Given the description of an element on the screen output the (x, y) to click on. 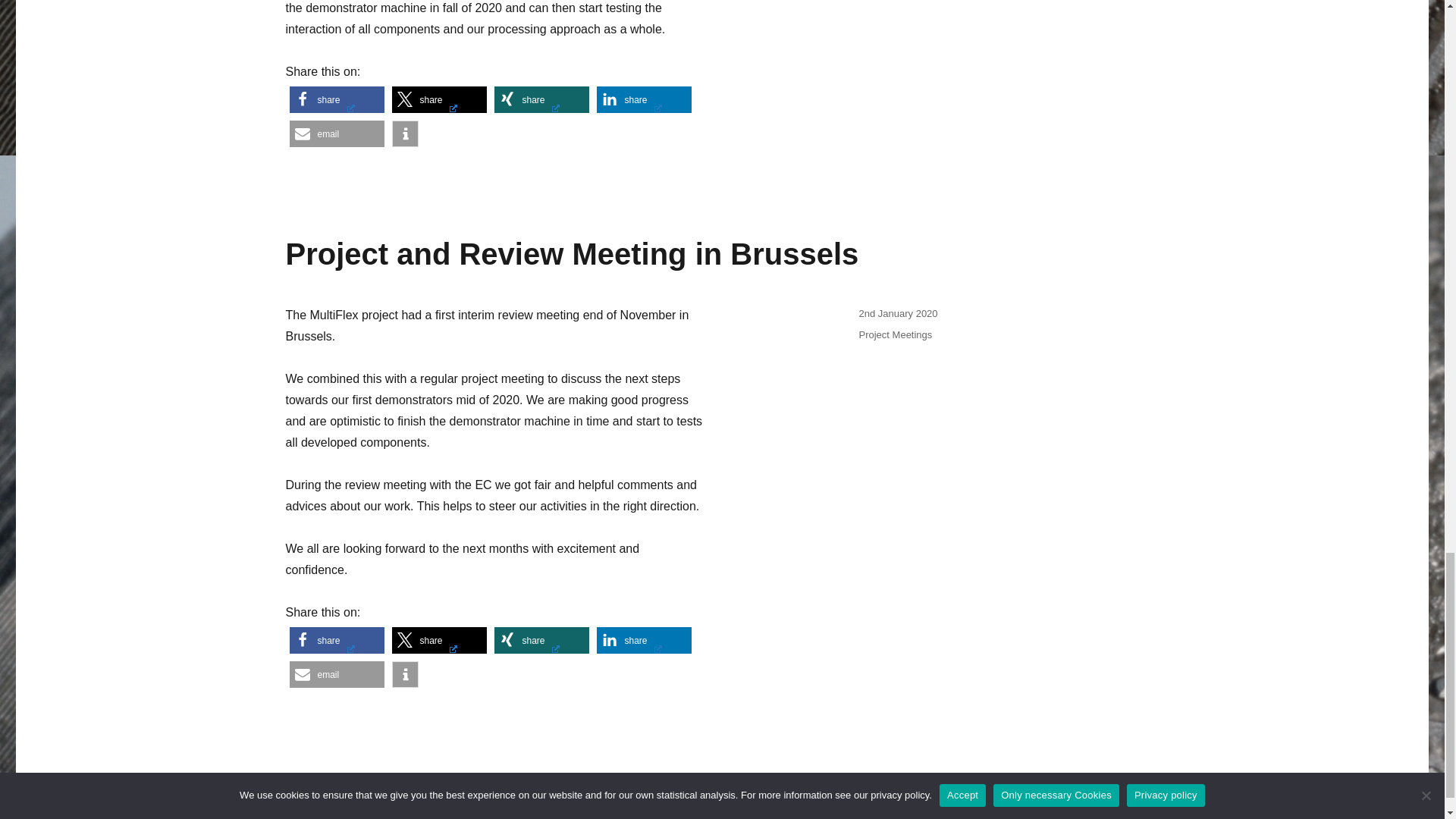
share  (642, 99)
share  (336, 99)
Share on X (438, 640)
share  (438, 640)
share  (542, 640)
email  (336, 133)
Share on Facebook (336, 99)
Share on XING (542, 640)
share  (336, 640)
share  (542, 99)
2nd January 2020 (898, 313)
Project and Review Meeting in Brussels (572, 254)
Share on Facebook (336, 640)
Share on LinkedIn (642, 99)
Project Meetings (895, 334)
